Given the description of an element on the screen output the (x, y) to click on. 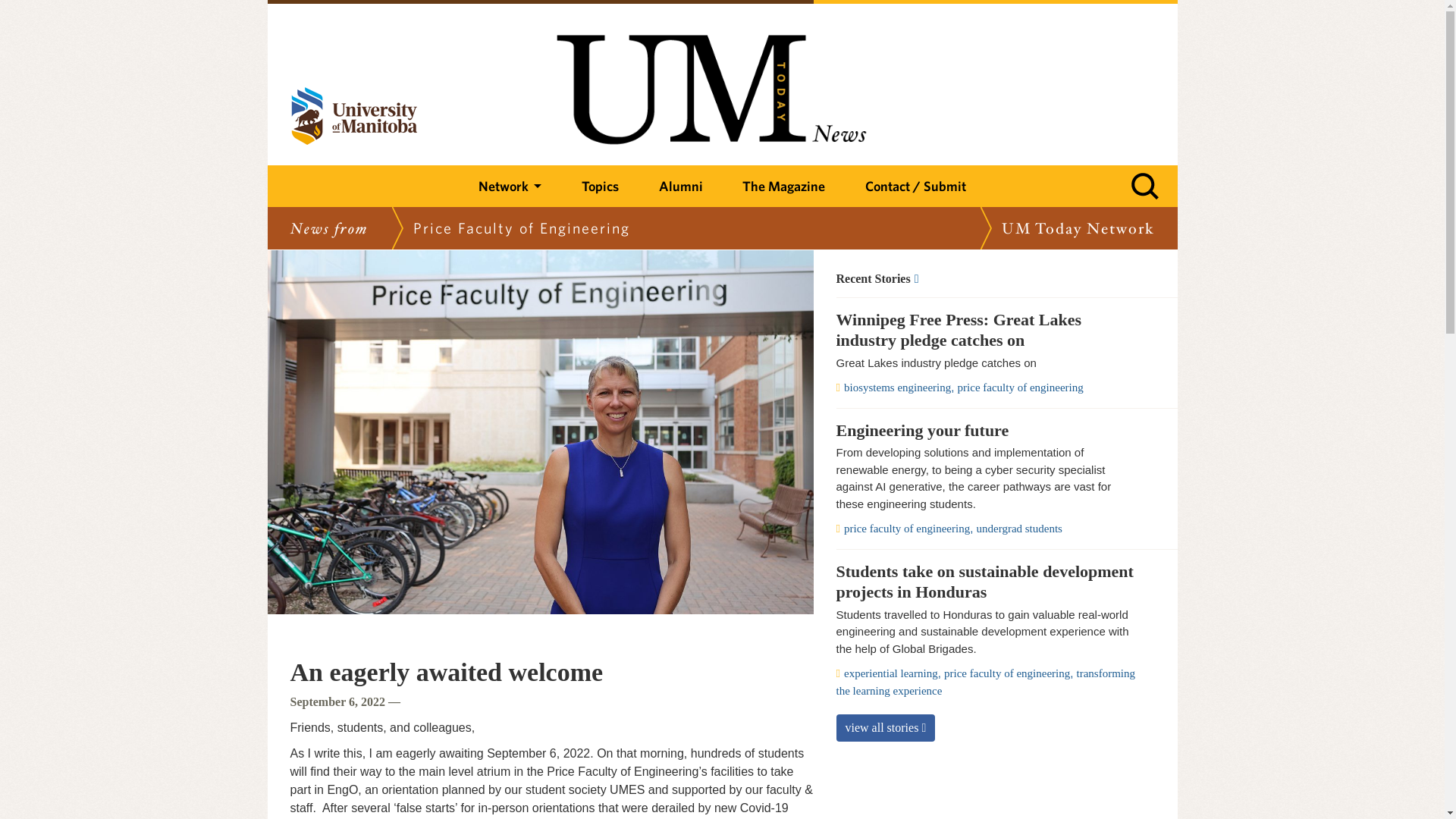
Network (510, 186)
News Archives (986, 278)
Winnipeg Free Press: Great Lakes industry pledge catches on (986, 330)
Engineering your future (986, 430)
